Given the description of an element on the screen output the (x, y) to click on. 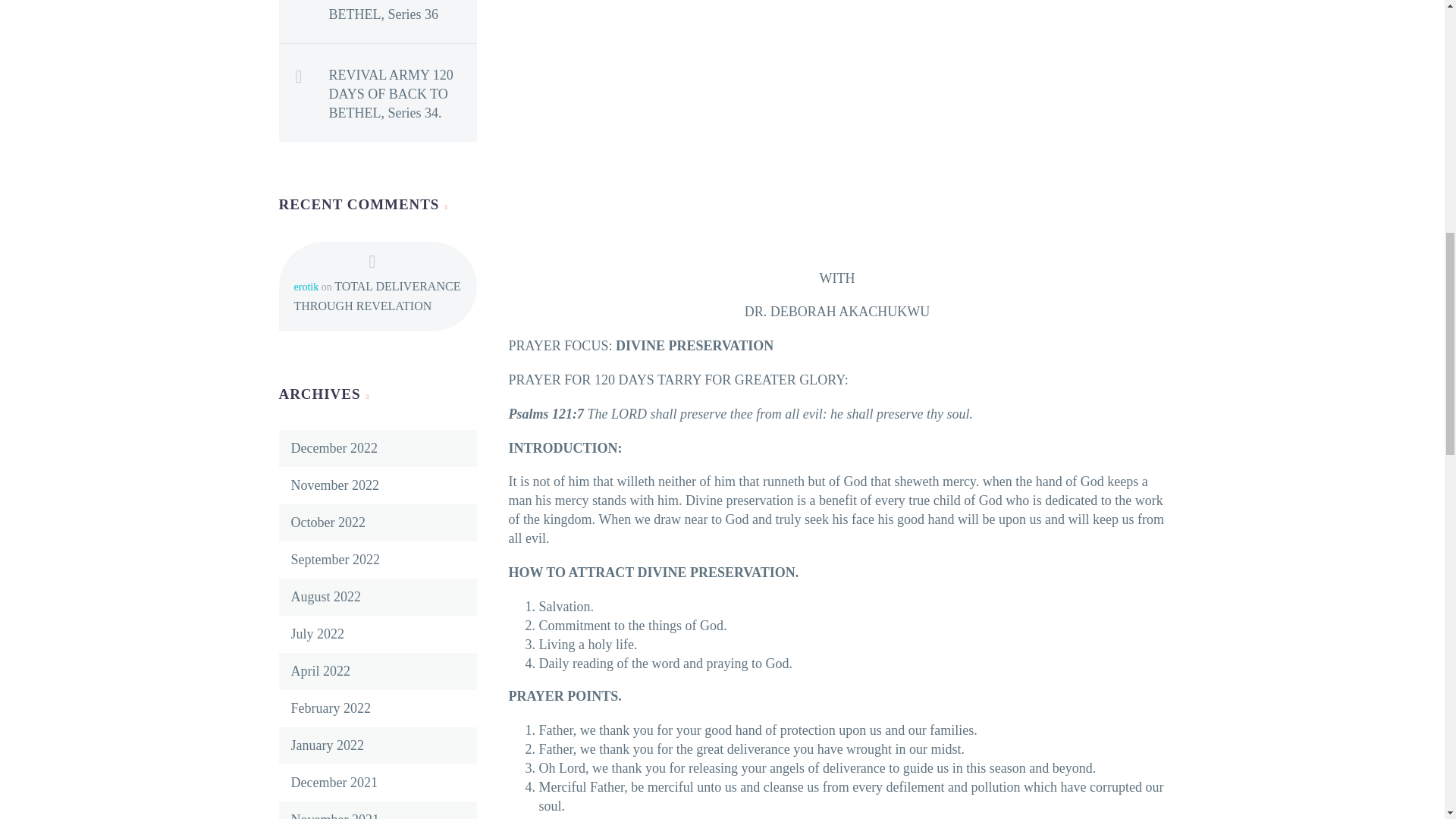
REVIVAL ARMY 120 DAYS OF BACK TO BETHEL, Series 36 (403, 12)
November 2022 (334, 485)
TOTAL DELIVERANCE THROUGH REVELATION (377, 296)
September 2022 (335, 559)
erotik (306, 286)
July 2022 (318, 633)
August 2022 (326, 596)
December 2022 (334, 447)
REVIVAL ARMY 120 DAYS OF BACK TO BETHEL, Series 34. (403, 90)
October 2022 (328, 522)
